Given the description of an element on the screen output the (x, y) to click on. 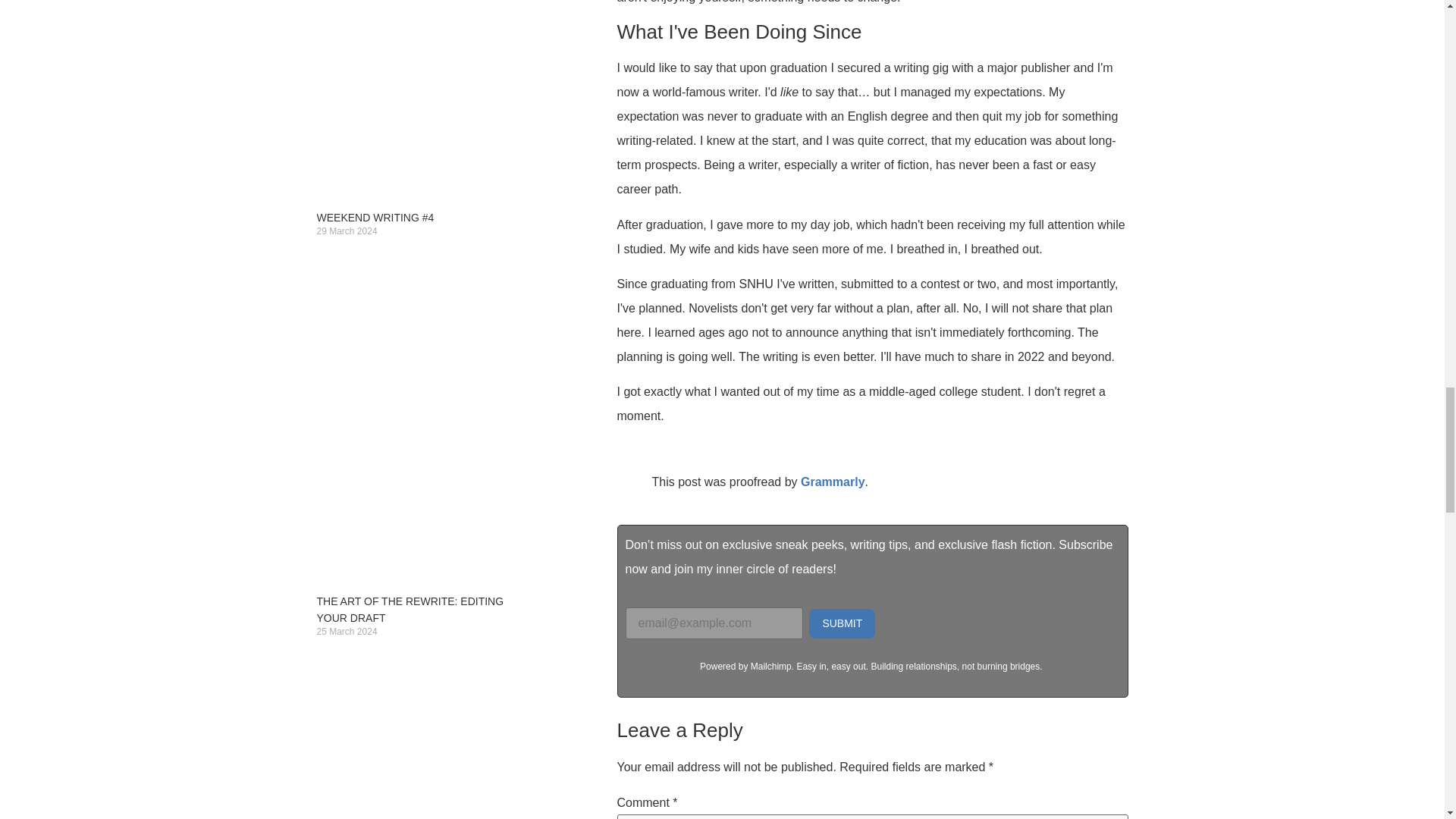
THE ART OF THE REWRITE: EDITING YOUR DRAFT (410, 609)
